Given the description of an element on the screen output the (x, y) to click on. 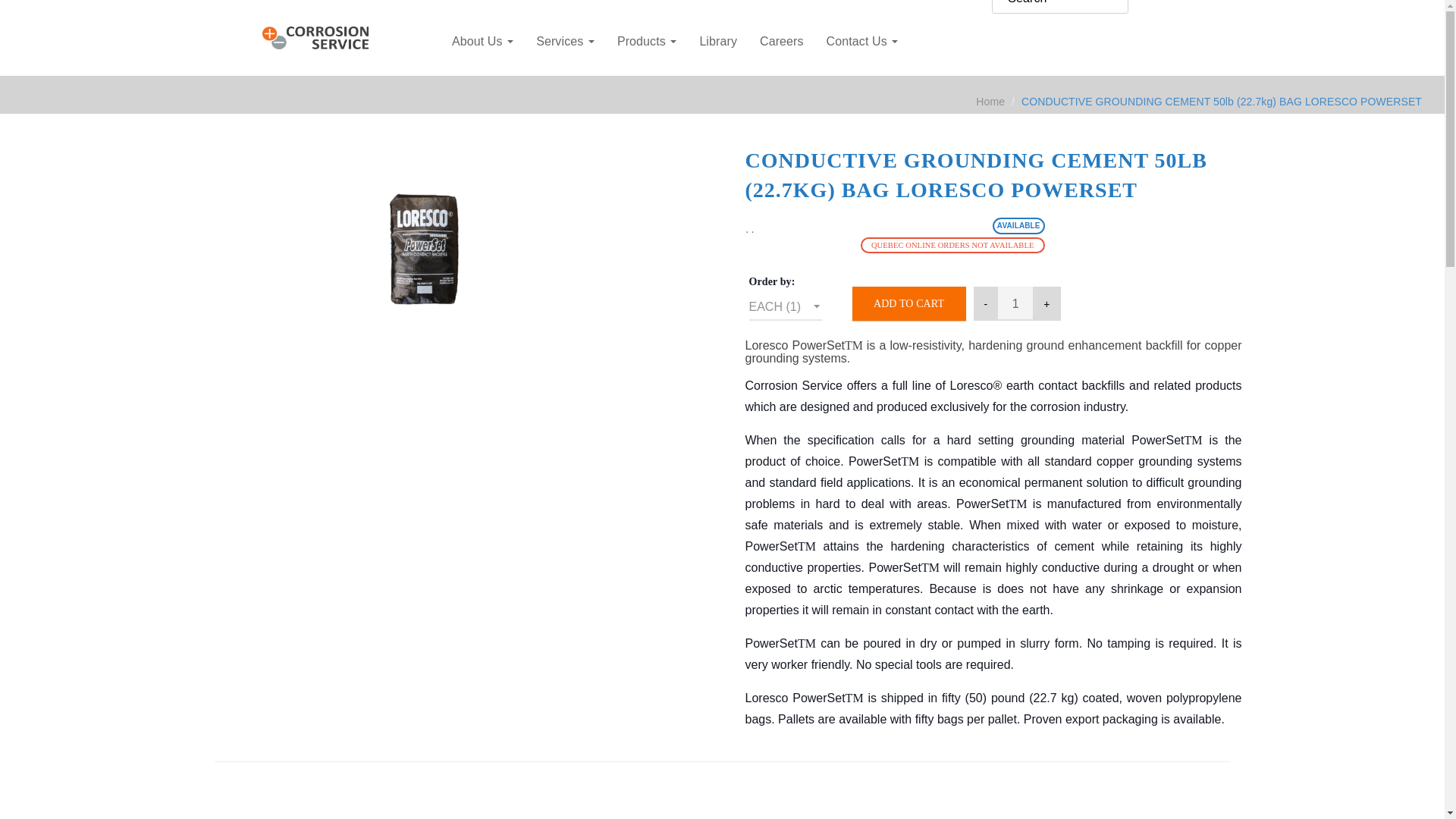
Products (646, 40)
Library (717, 40)
Contact Us (862, 40)
1 (1014, 303)
About Us (482, 40)
Services (564, 40)
Careers (781, 40)
